Given the description of an element on the screen output the (x, y) to click on. 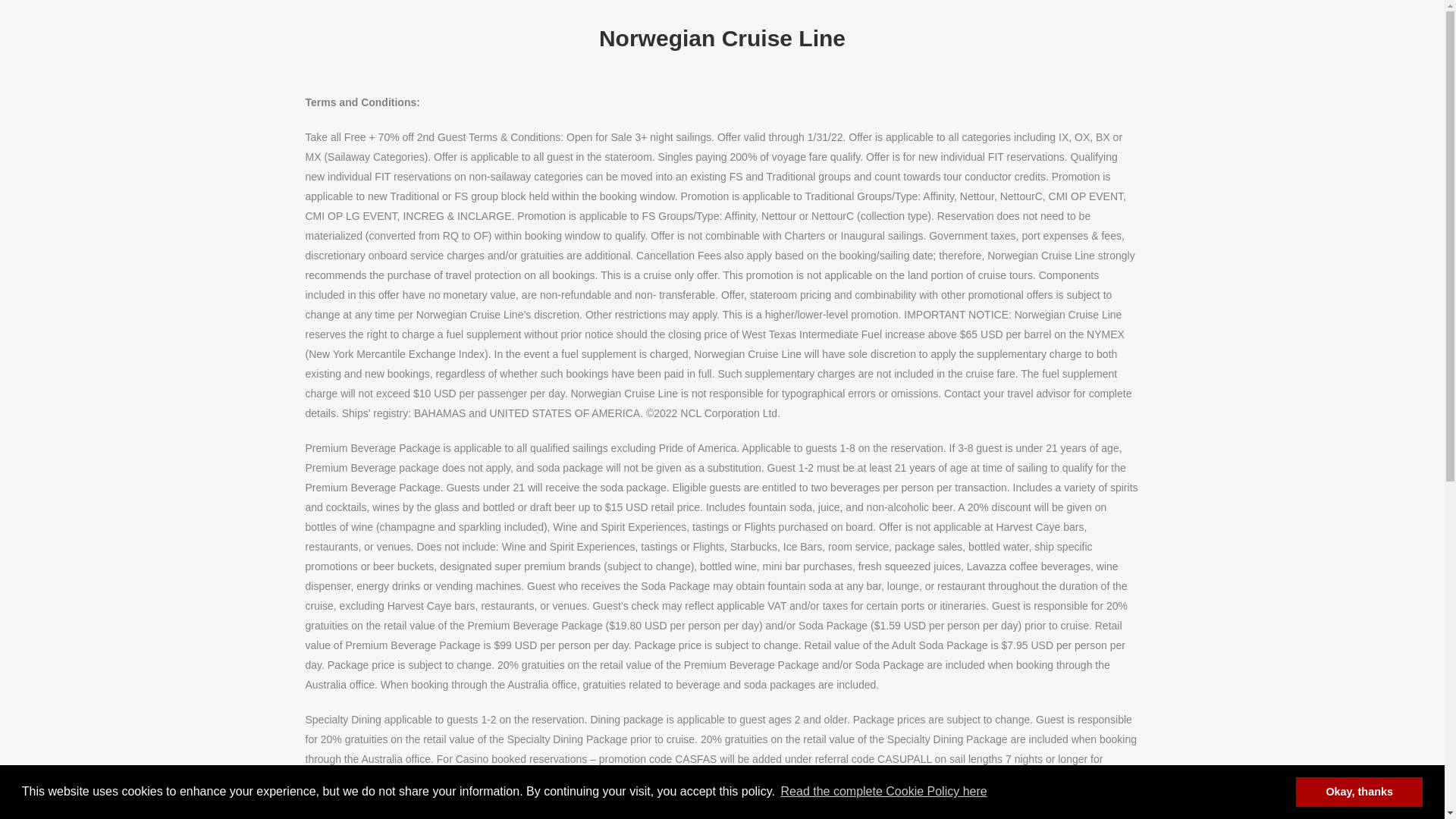
Okay, thanks (1358, 791)
Read the complete Cookie Policy here (883, 791)
